Given the description of an element on the screen output the (x, y) to click on. 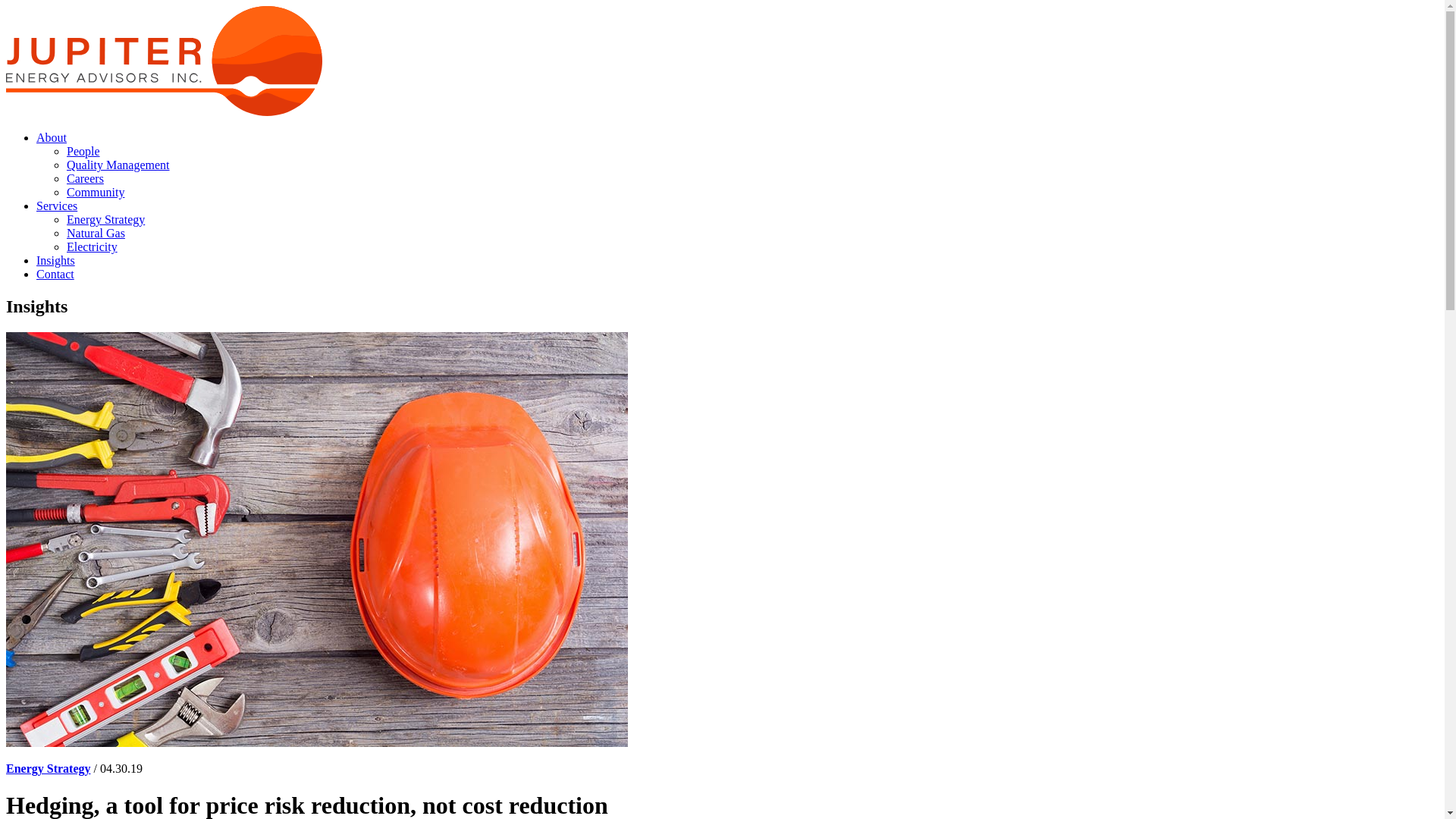
Insights Element type: text (55, 260)
Energy Strategy Element type: text (105, 219)
Services Element type: text (56, 205)
Natural Gas Element type: text (95, 232)
Contact Element type: text (55, 273)
Quality Management Element type: text (117, 164)
People Element type: text (83, 150)
Energy Strategy Element type: text (48, 768)
Careers Element type: text (84, 178)
About Element type: text (51, 137)
Electricity Element type: text (91, 246)
Community Element type: text (95, 191)
